Given the description of an element on the screen output the (x, y) to click on. 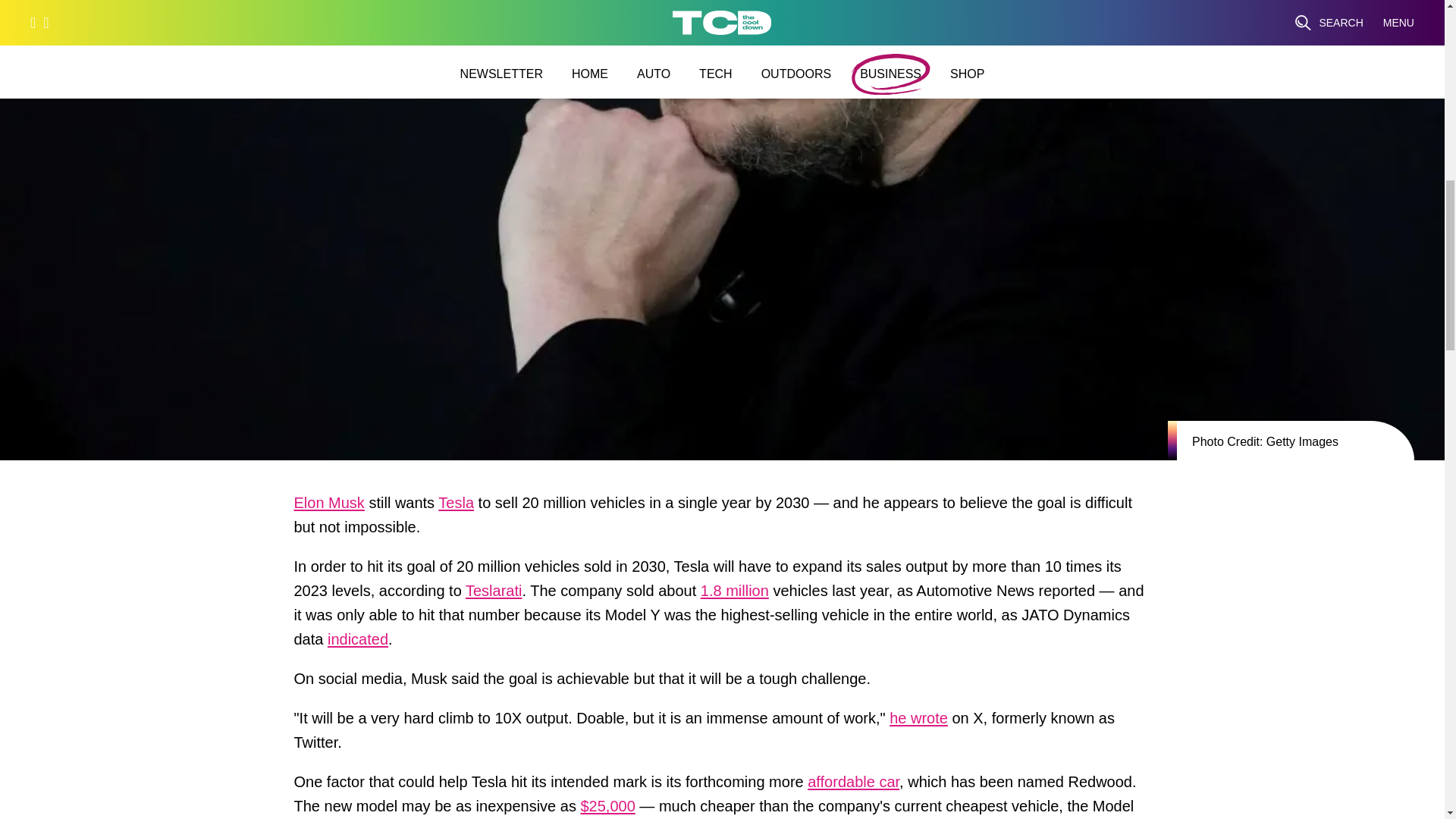
indicated (357, 642)
Tesla (456, 506)
he wrote (918, 721)
Teslarati (493, 594)
1.8 million (734, 594)
Elon Musk (329, 506)
Tesla News (456, 506)
Tesla News (329, 506)
